Given the description of an element on the screen output the (x, y) to click on. 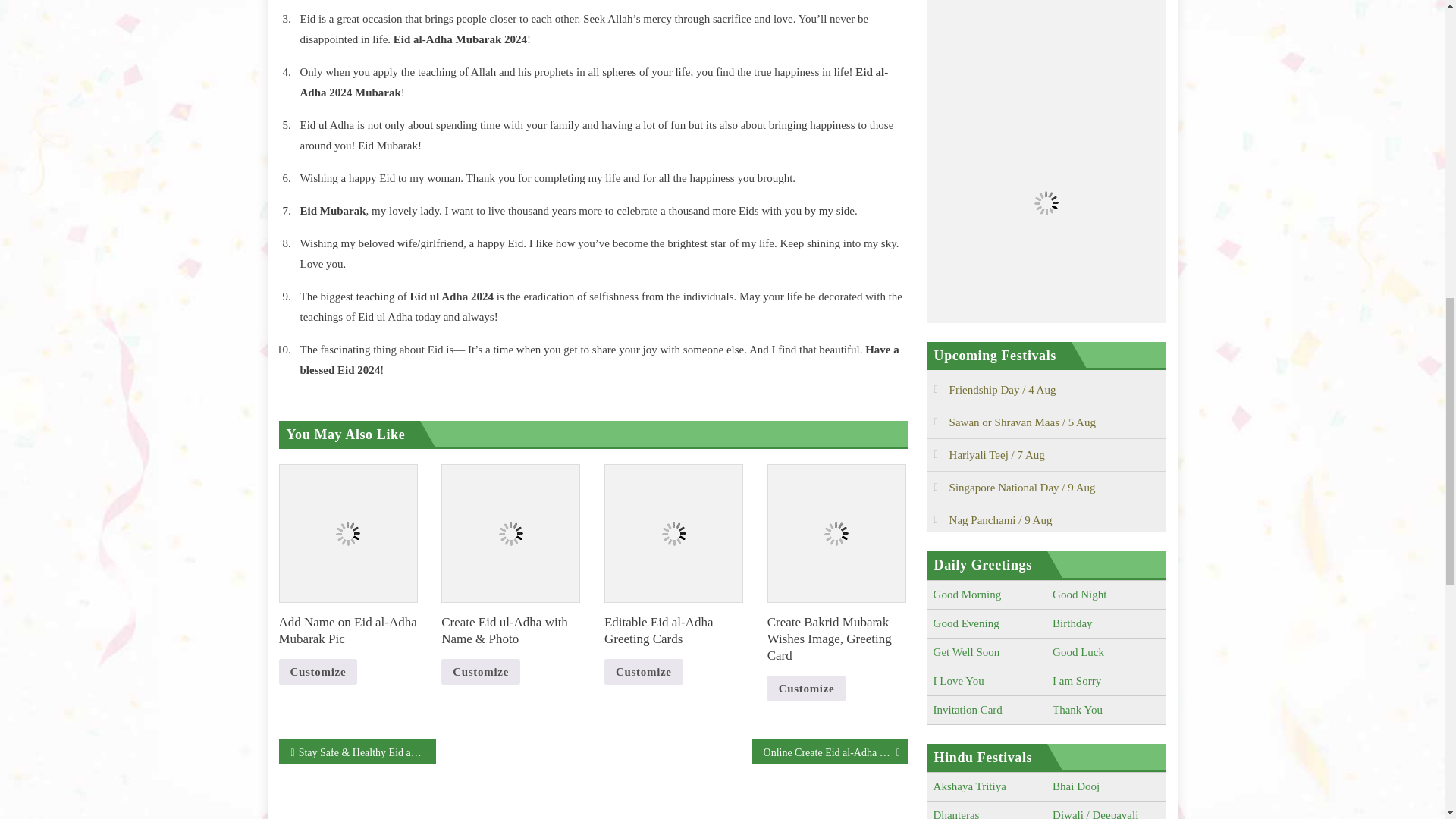
I Love You (958, 680)
Invitation Card (968, 709)
Happy Birthday (1072, 623)
Good Night (1079, 594)
Good Evening (965, 623)
Good Morning (967, 594)
Bhai Dooj (1075, 786)
Thank You (1077, 709)
Akshaya Tritiya (969, 786)
Get Well Soon (966, 652)
I am Sorry (1076, 680)
Dhanteras (956, 814)
